Given the description of an element on the screen output the (x, y) to click on. 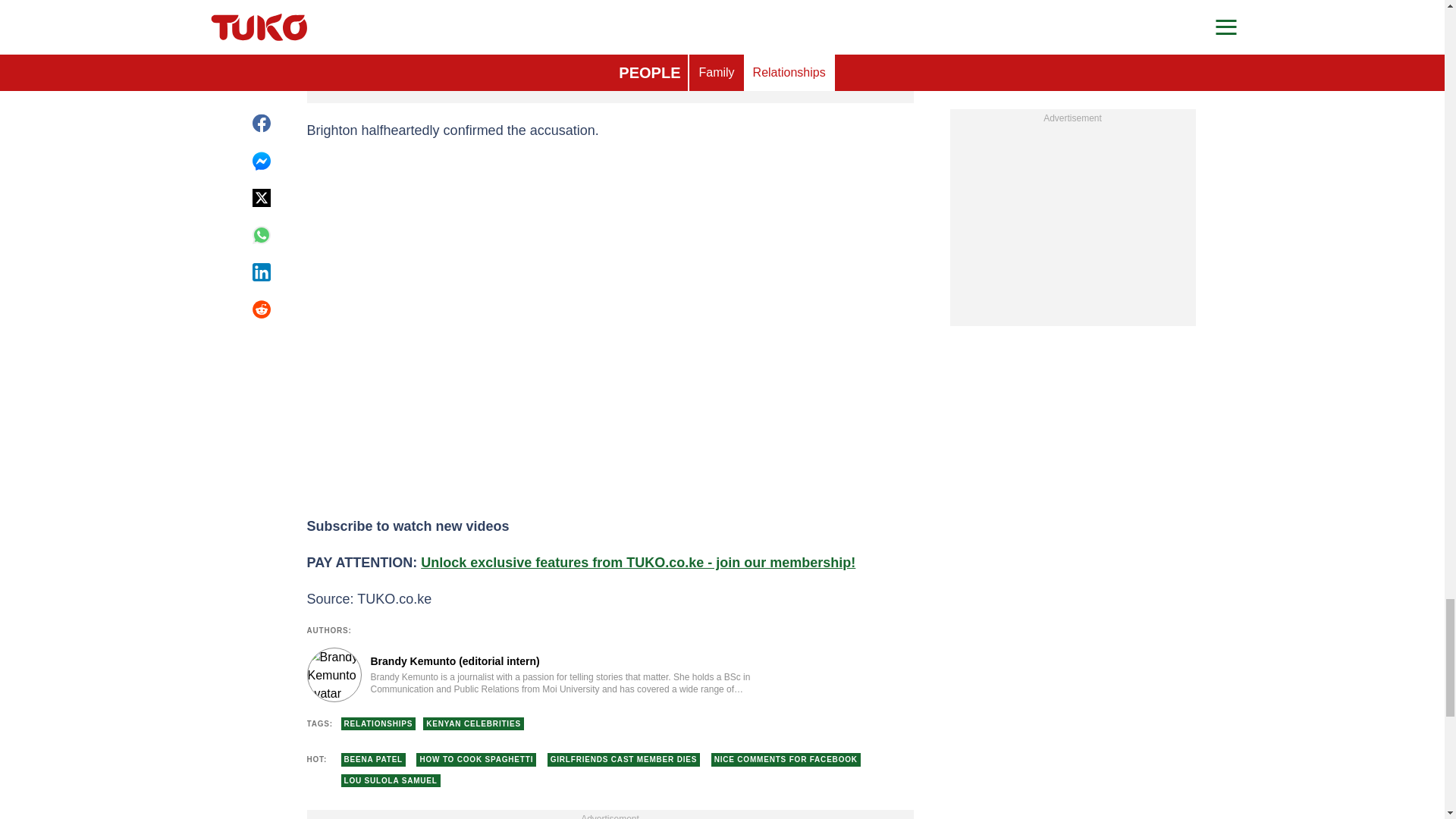
Author page (533, 674)
